Given the description of an element on the screen output the (x, y) to click on. 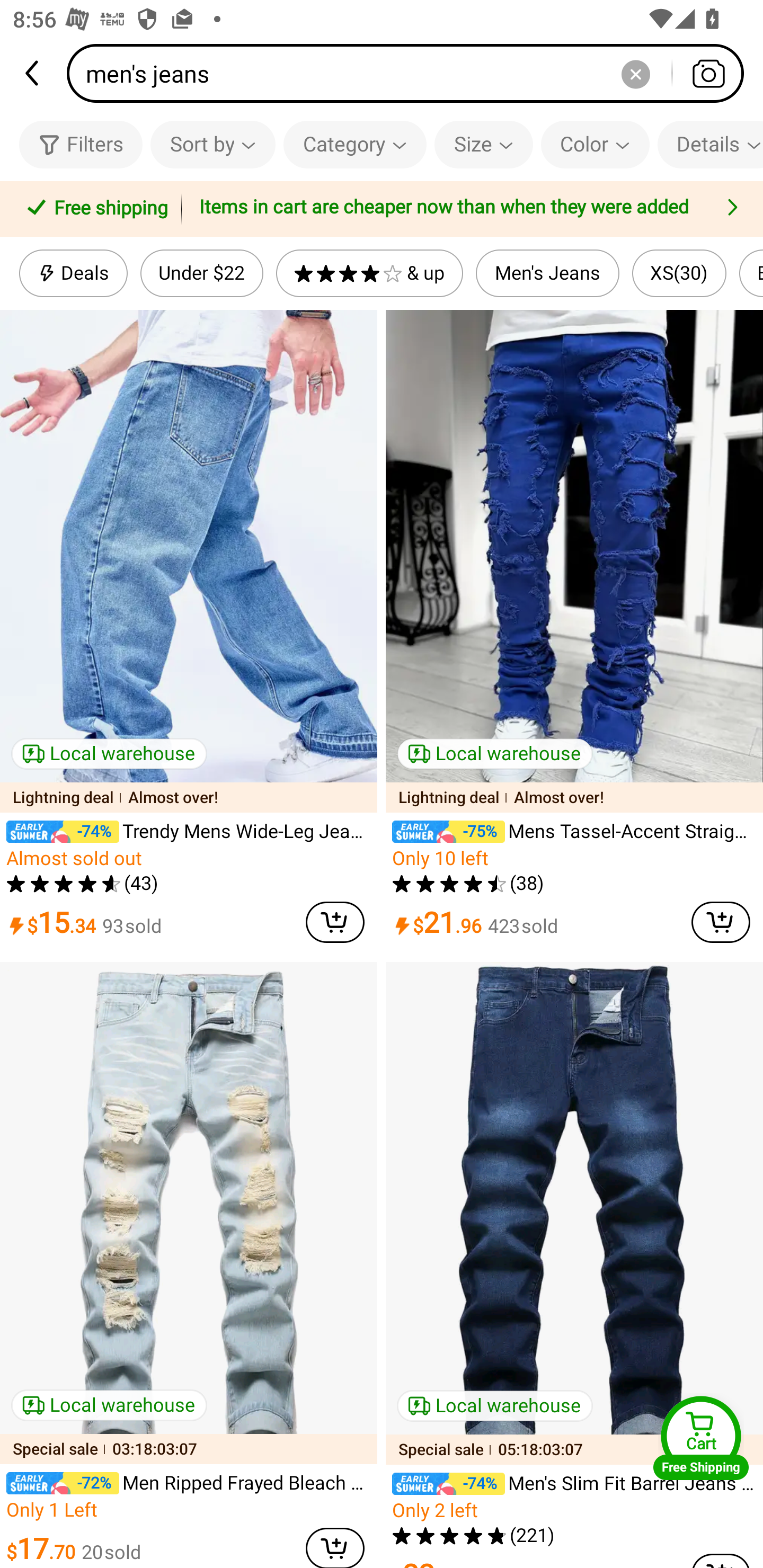
back (33, 72)
men's jeans (411, 73)
Delete search history (635, 73)
Search by photo (708, 73)
Filters (80, 143)
Sort by (212, 143)
Category (354, 143)
Size (483, 143)
Color (594, 143)
Details (710, 143)
 Free shipping (93, 208)
Deals (73, 273)
Under $22 (201, 273)
& up (369, 273)
Men's Jeans (547, 273)
XS(30) (678, 273)
Cart Free Shipping Cart (701, 1437)
